Given the description of an element on the screen output the (x, y) to click on. 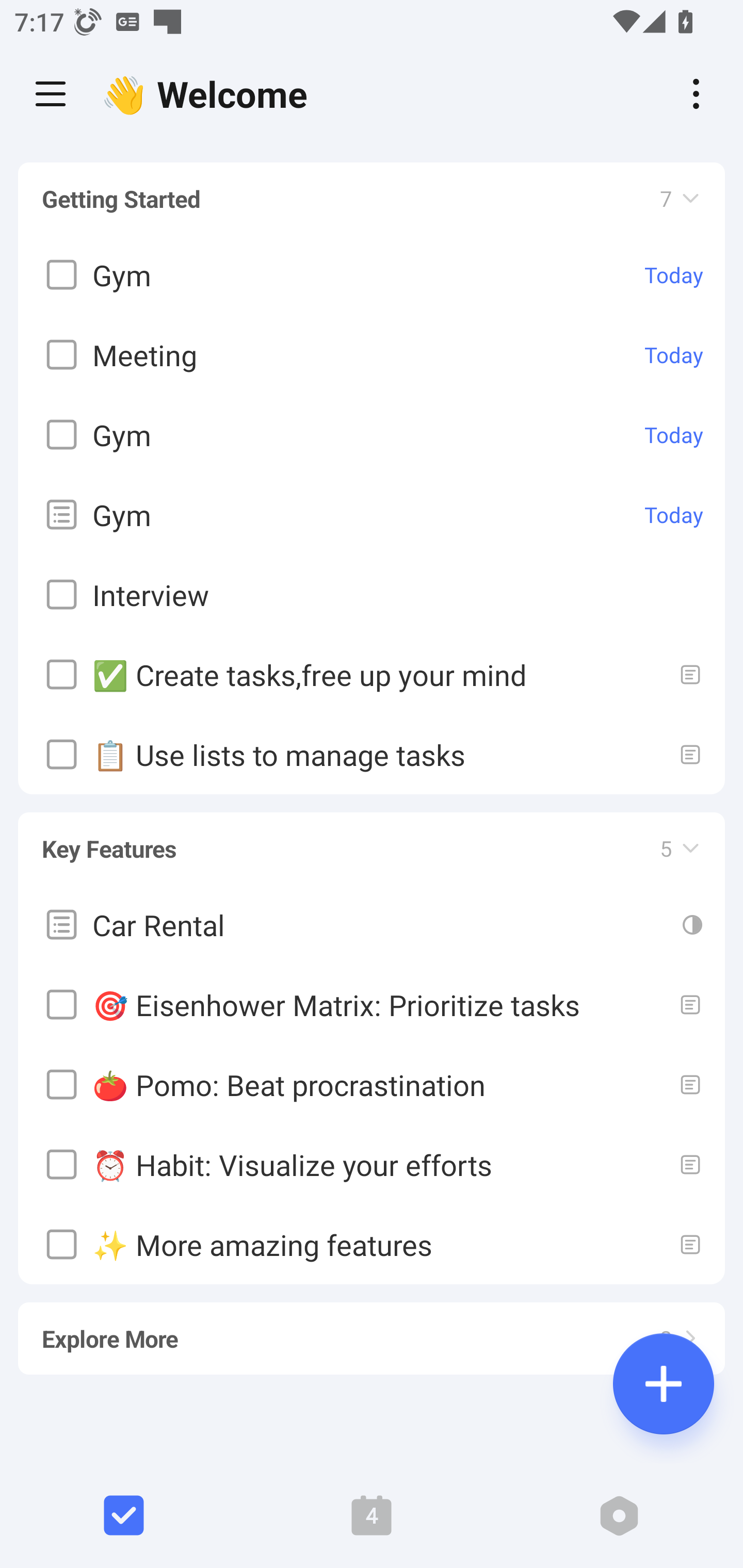
👋 Welcome (209, 93)
Getting Started 7 (371, 199)
Gym Today (371, 275)
Today (673, 275)
Meeting Today (371, 355)
Today (673, 355)
Gym Today (371, 435)
Today (673, 435)
Gym Today (371, 515)
Today (673, 514)
Interview (371, 595)
✅ Create tasks,free up your mind (371, 675)
📋 Use lists to manage tasks (371, 754)
Key Features 5 (371, 839)
Car Rental (371, 924)
🎯 Eisenhower Matrix: Prioritize tasks (371, 1004)
🍅 Pomo: Beat procrastination (371, 1084)
⏰ Habit: Visualize your efforts (371, 1164)
✨ More amazing features (371, 1244)
Explore More 2 (371, 1329)
